Given the description of an element on the screen output the (x, y) to click on. 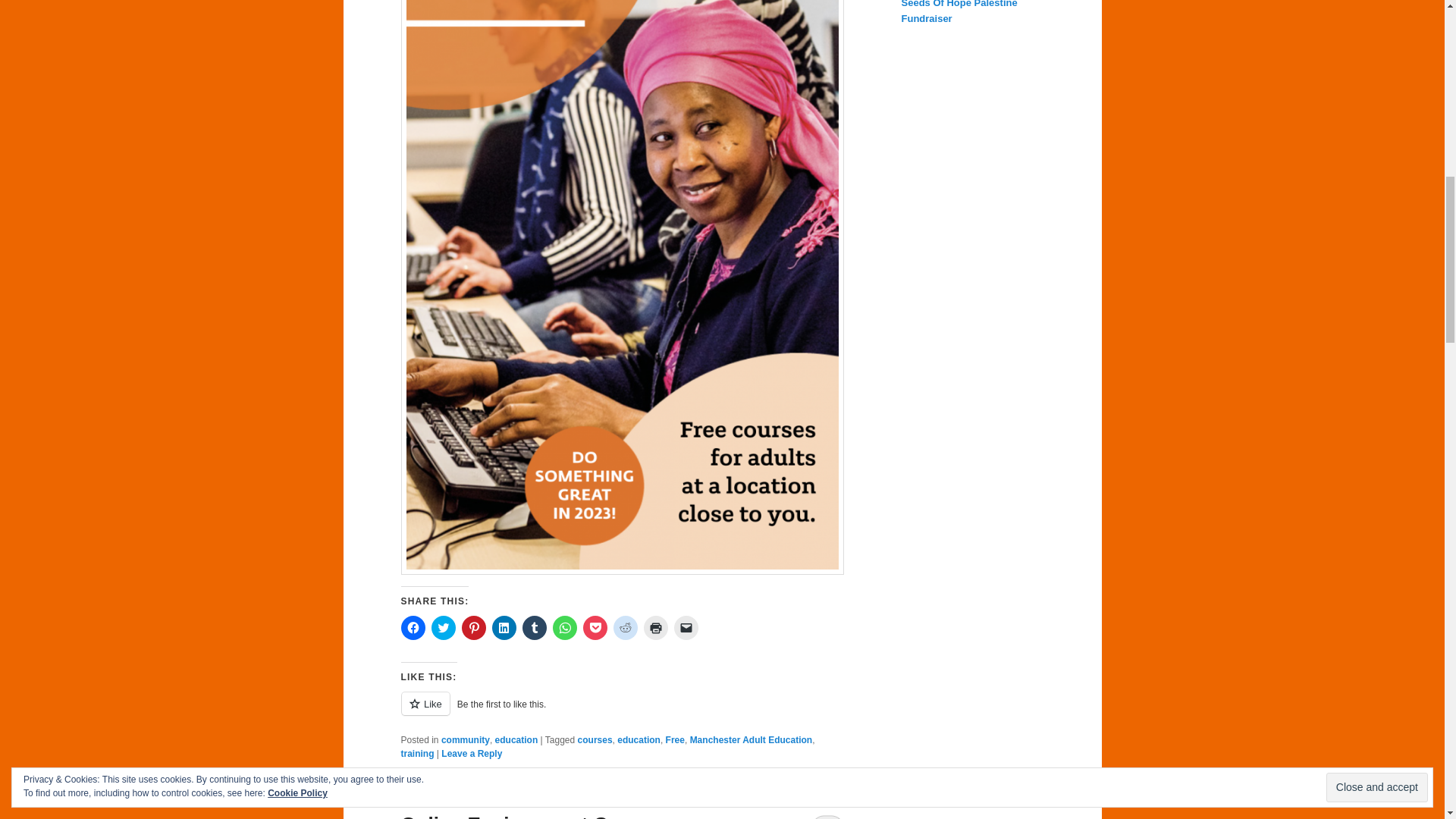
Like or Reblog (621, 712)
Click to share on WhatsApp (563, 627)
Click to share on Pocket (594, 627)
Click to share on Reddit (624, 627)
Click to print (654, 627)
Click to share on Twitter (442, 627)
Click to share on Tumblr (533, 627)
Click to share on Pinterest (472, 627)
Click to share on LinkedIn (503, 627)
Click to share on Facebook (412, 627)
Click to email a link to a friend (684, 627)
